Given the description of an element on the screen output the (x, y) to click on. 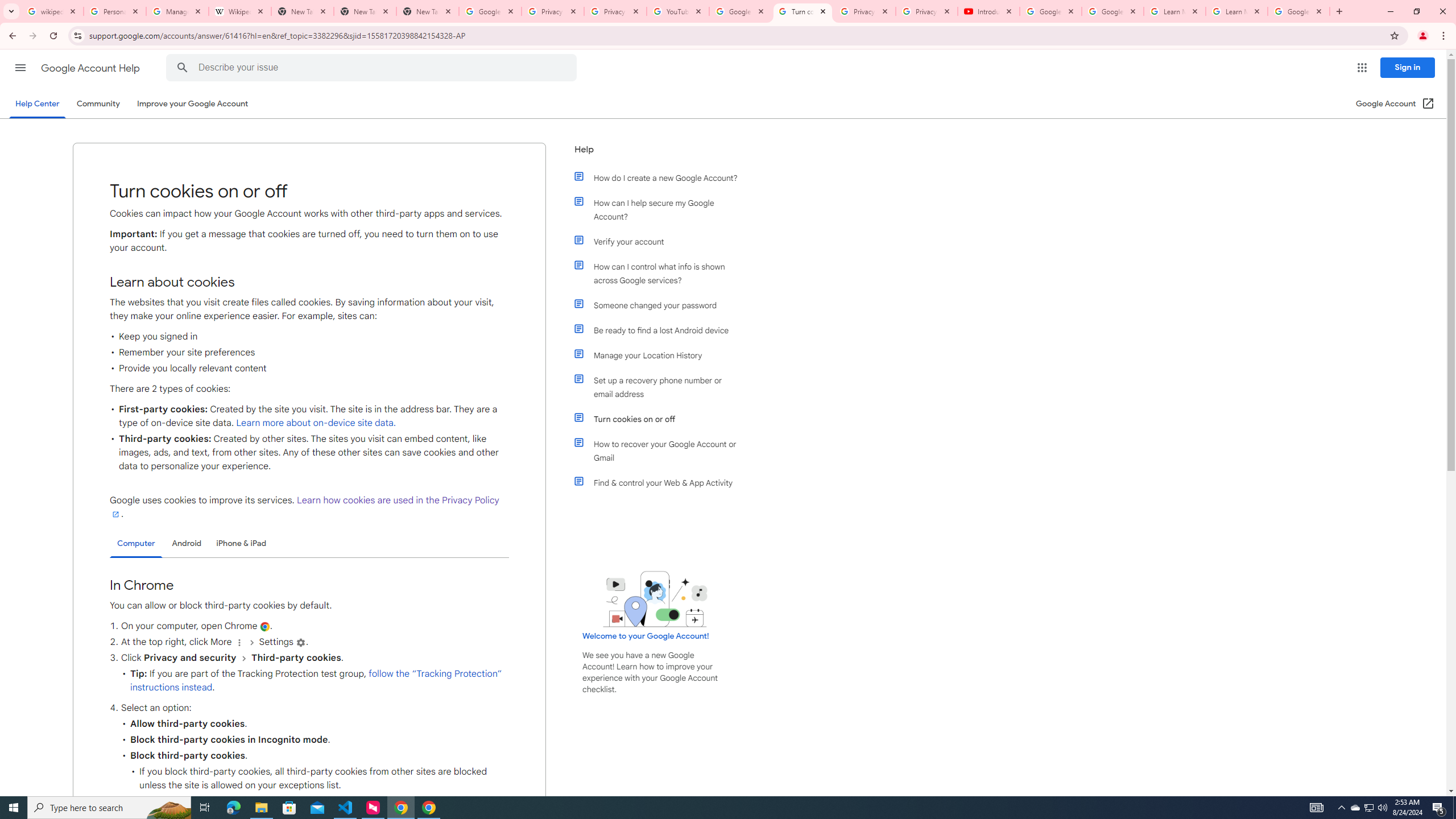
Google Account Help (1111, 11)
Welcome to your Google Account! (645, 635)
Improve your Google Account (192, 103)
How do I create a new Google Account? (661, 177)
Help Center (36, 103)
Set up a recovery phone number or email address (661, 387)
Community (97, 103)
